Given the description of an element on the screen output the (x, y) to click on. 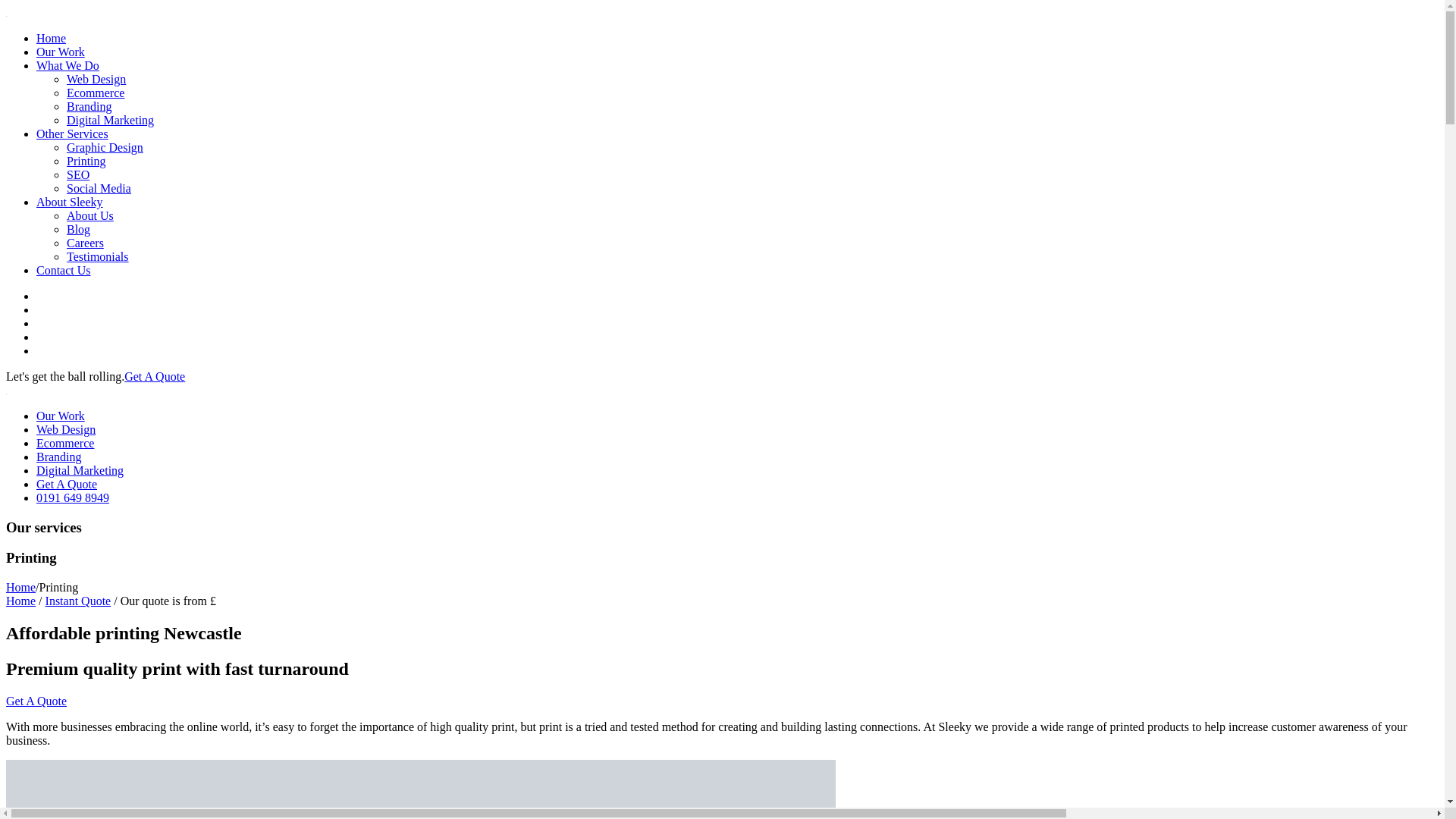
Our Work (60, 51)
Branding (89, 106)
Get A Quote (153, 376)
Contact Us (63, 269)
Home (19, 586)
Social Media (98, 187)
Ecommerce (94, 92)
Our Work (60, 415)
Web Design (66, 429)
Printing (86, 160)
Ecommerce (65, 442)
Home (19, 600)
What We Do (67, 65)
Other Services (71, 133)
Graphic Design (104, 146)
